Given the description of an element on the screen output the (x, y) to click on. 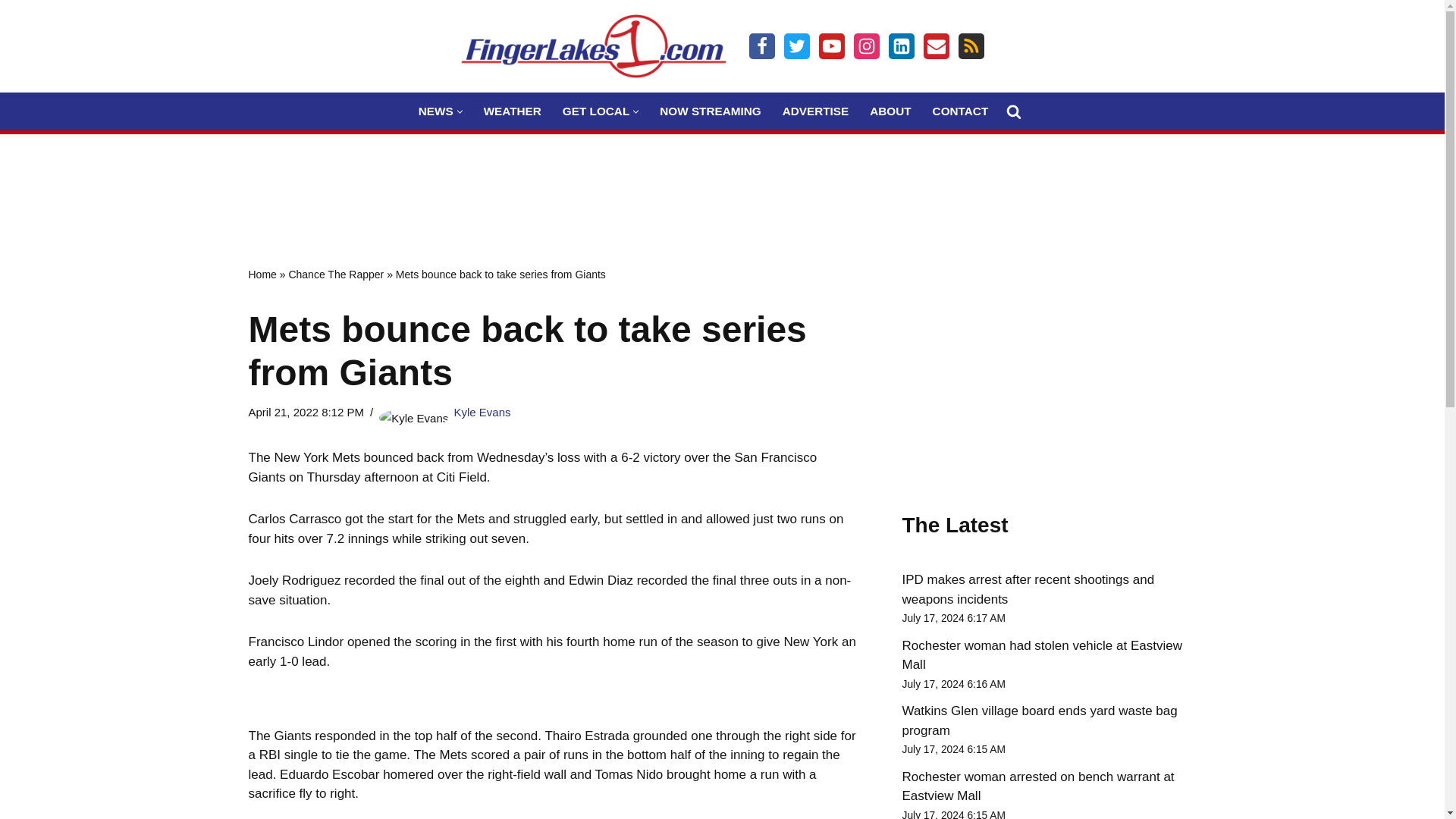
Twitter (796, 45)
ADVERTISE (815, 111)
ABOUT (890, 111)
CONTACT (960, 111)
WEATHER (512, 111)
NEWS (435, 111)
Facebook (761, 45)
LinkIn (901, 45)
GET LOCAL (595, 111)
NOW STREAMING (709, 111)
Email Us (936, 45)
Posts by Kyle Evans (481, 411)
Feed (971, 45)
Instagram (866, 45)
Youtube (831, 45)
